Given the description of an element on the screen output the (x, y) to click on. 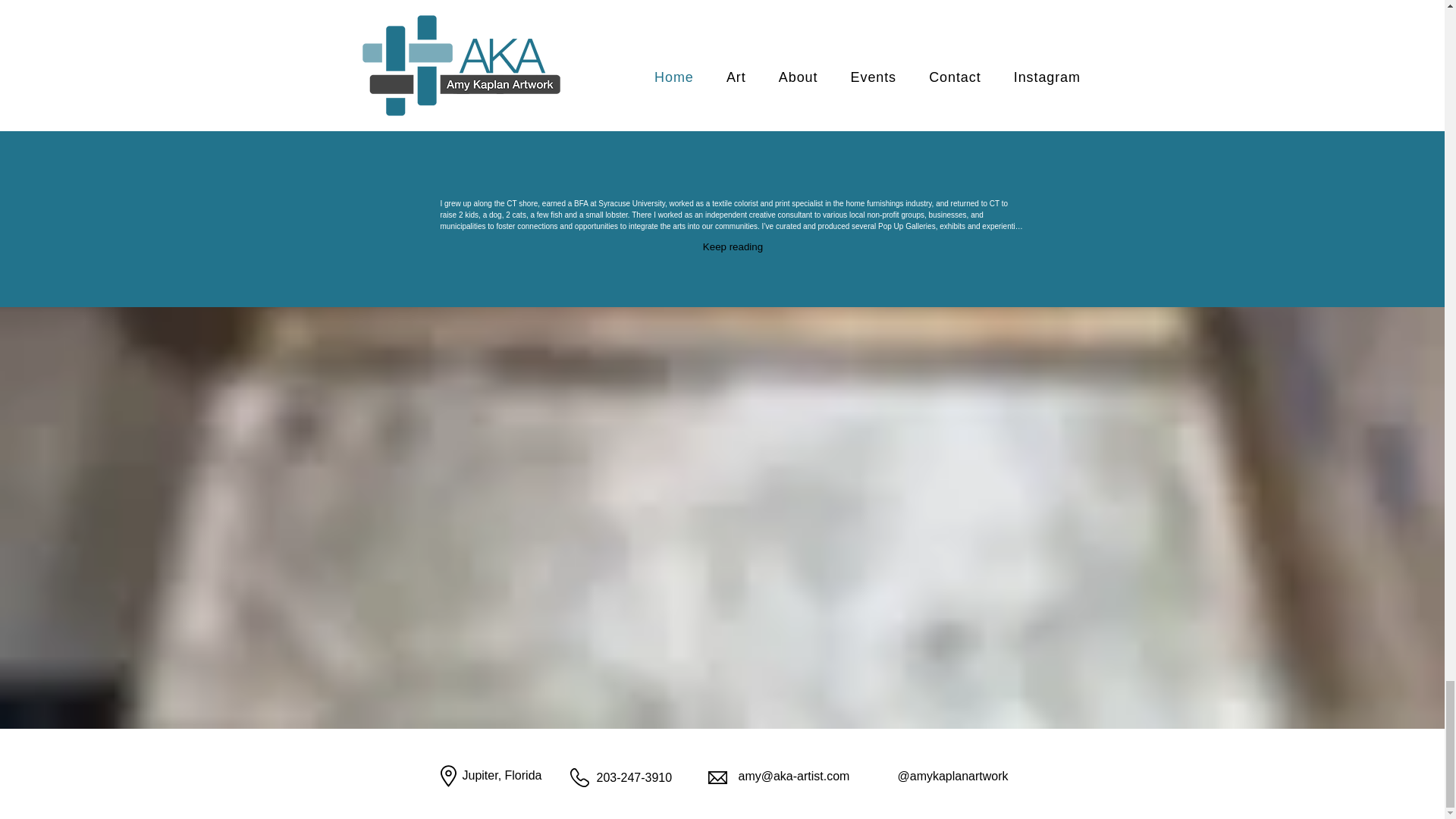
Keep reading (732, 246)
Send (980, 62)
